Given the description of an element on the screen output the (x, y) to click on. 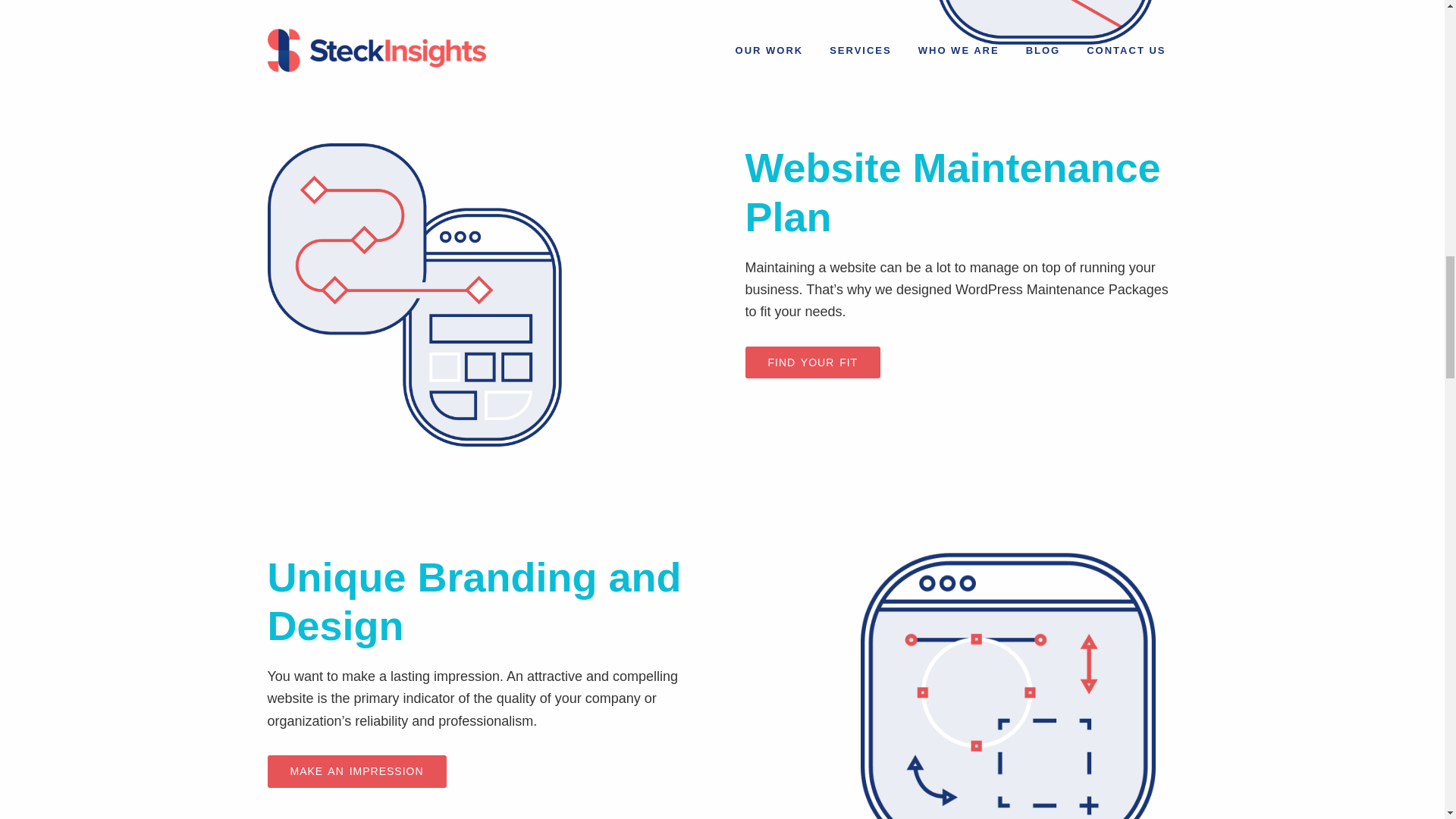
GET STARTED (330, 209)
FIND YOUR FIT (812, 500)
MAKE AN IMPRESSION (355, 814)
